Given the description of an element on the screen output the (x, y) to click on. 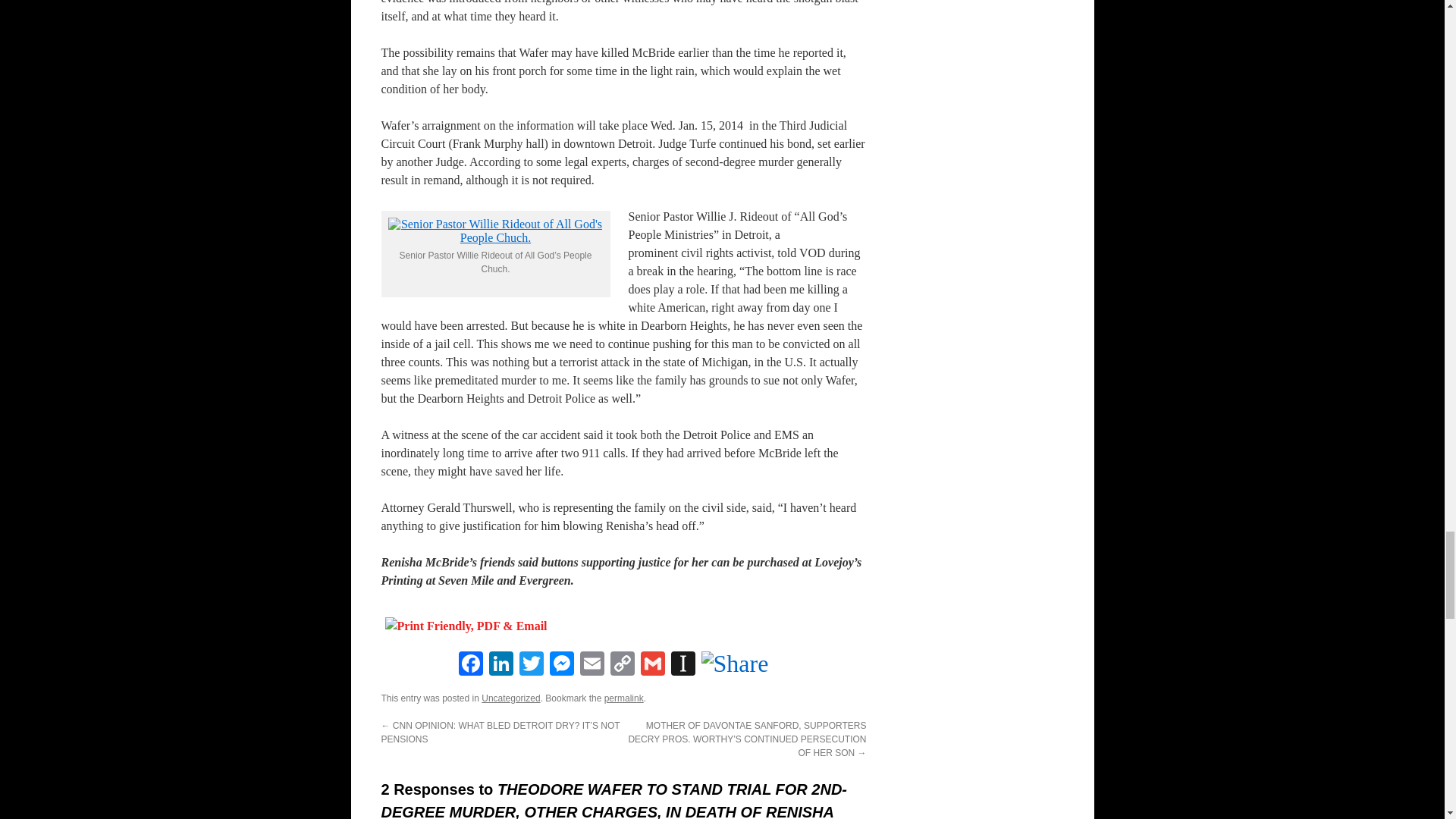
Messenger (561, 665)
Facebook (469, 665)
Gmail (651, 665)
Instapaper (681, 665)
Facebook (469, 665)
LinkedIn (499, 665)
Messenger (561, 665)
Instapaper (681, 665)
permalink (623, 697)
Twitter (530, 665)
